Given the description of an element on the screen output the (x, y) to click on. 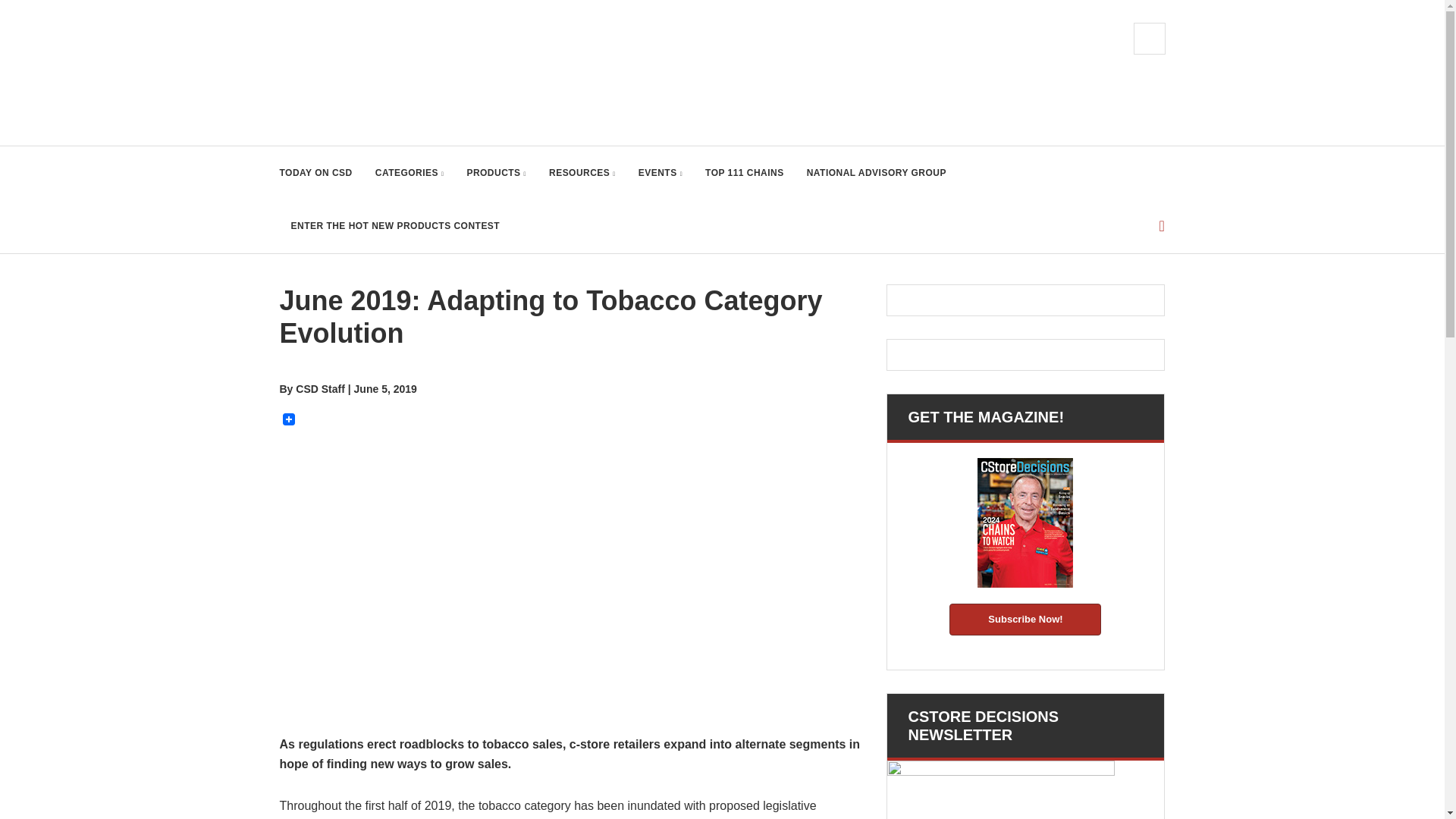
TOP 111 CHAINS (744, 172)
CStore Decisions (380, 72)
TODAY ON CSD (315, 172)
RESOURCES (581, 172)
PRODUCTS (495, 172)
CATEGORIES (409, 172)
